Given the description of an element on the screen output the (x, y) to click on. 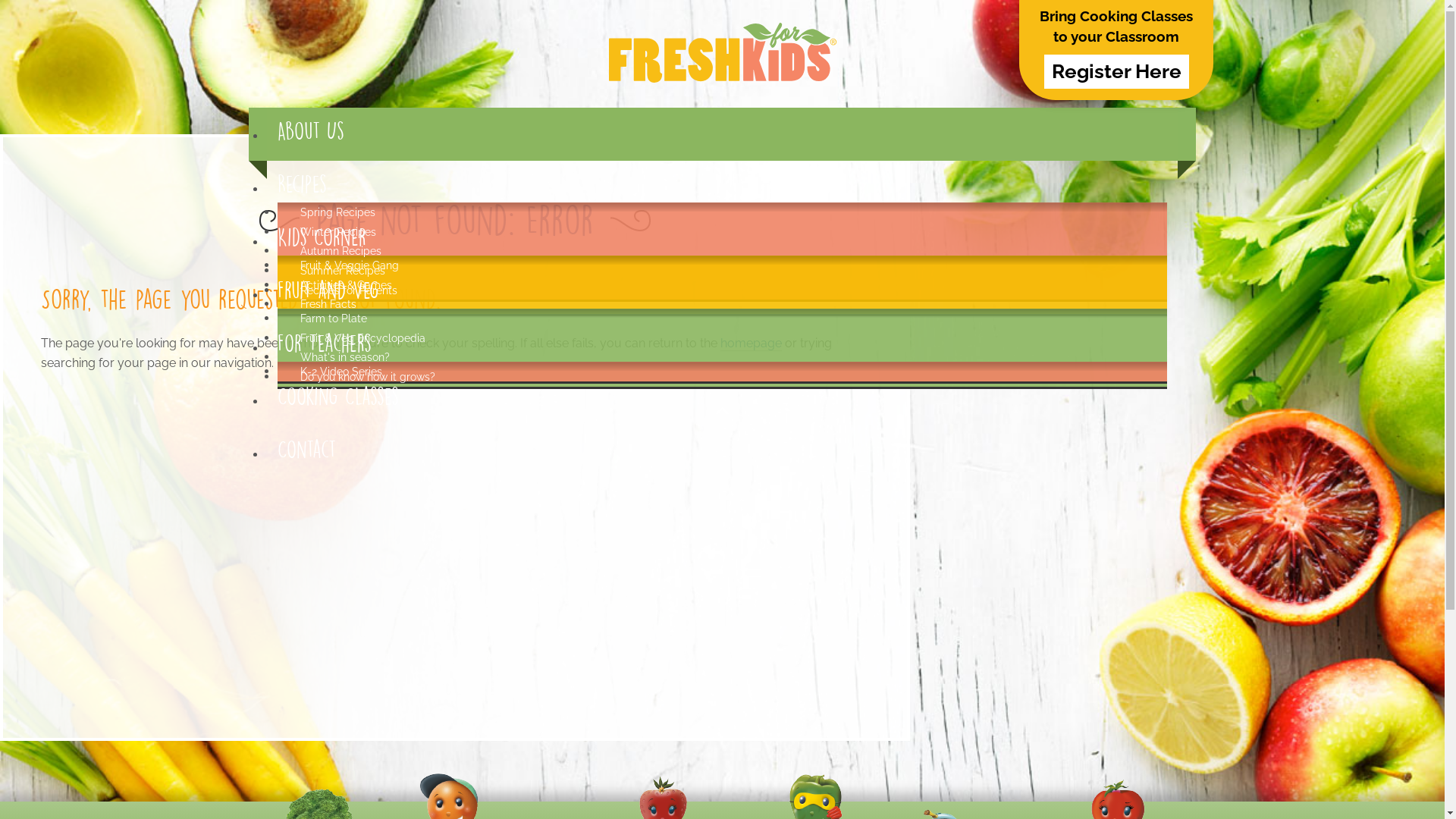
Activities & Games Element type: text (344, 286)
homepage Element type: text (750, 343)
Kids Corner Element type: text (321, 236)
What's in season? Element type: text (342, 358)
Summer Recipes Element type: text (340, 272)
About Us Element type: text (310, 130)
Fruit & Veg Encyclopedia Element type: text (360, 339)
Recipes Element type: text (301, 183)
Winter Recipes Element type: text (336, 233)
Do you know how it grows? Element type: text (365, 378)
K-2 Video Series Element type: text (339, 373)
Fruit and Veg Element type: text (328, 290)
For Teachers Element type: text (324, 343)
Cooking Classes Element type: text (337, 396)
Recipes for Parents Element type: text (346, 292)
Contact Element type: text (306, 449)
Autumn Recipes Element type: text (338, 252)
Register Here Element type: text (1115, 71)
Fruit & Veggie Gang Element type: text (347, 267)
Fresh Facts Element type: text (326, 305)
Spring Recipes Element type: text (335, 213)
Farm to Plate Element type: text (331, 320)
